Given the description of an element on the screen output the (x, y) to click on. 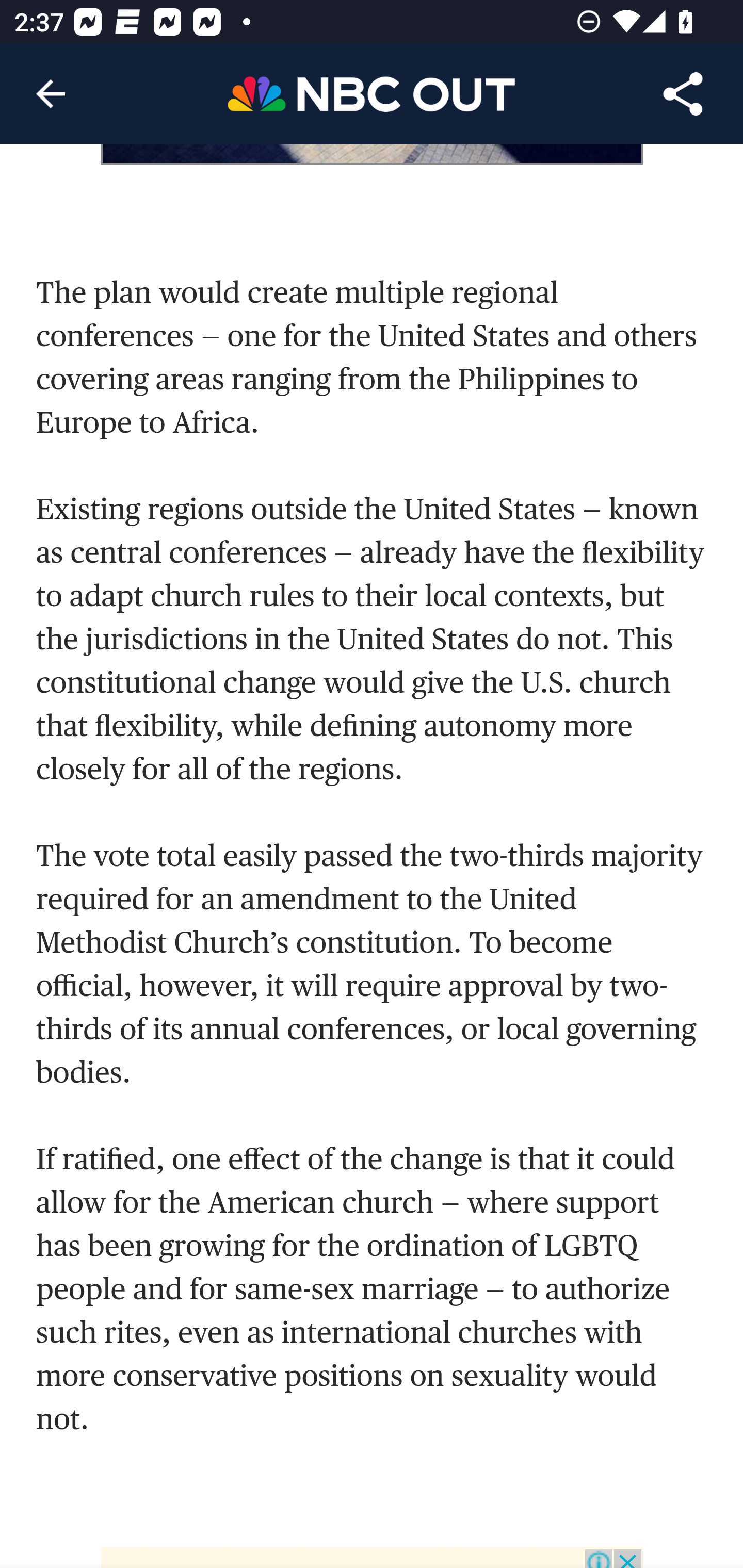
Navigate up (50, 93)
Share Article, button (683, 94)
Header, NBC Out (371, 93)
